Given the description of an element on the screen output the (x, y) to click on. 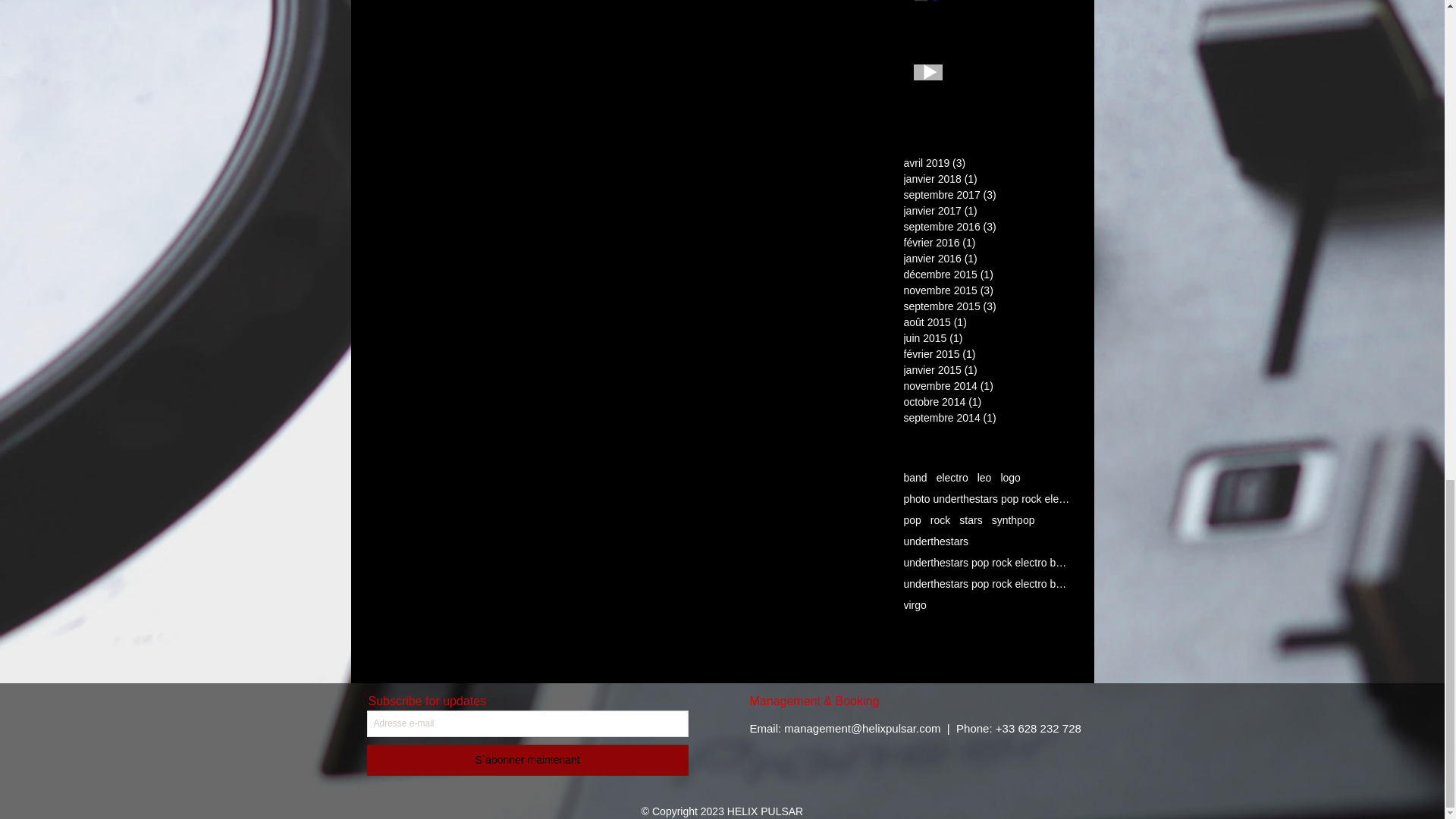
"Rapture" Official Video !!!!! (1006, 81)
